Given the description of an element on the screen output the (x, y) to click on. 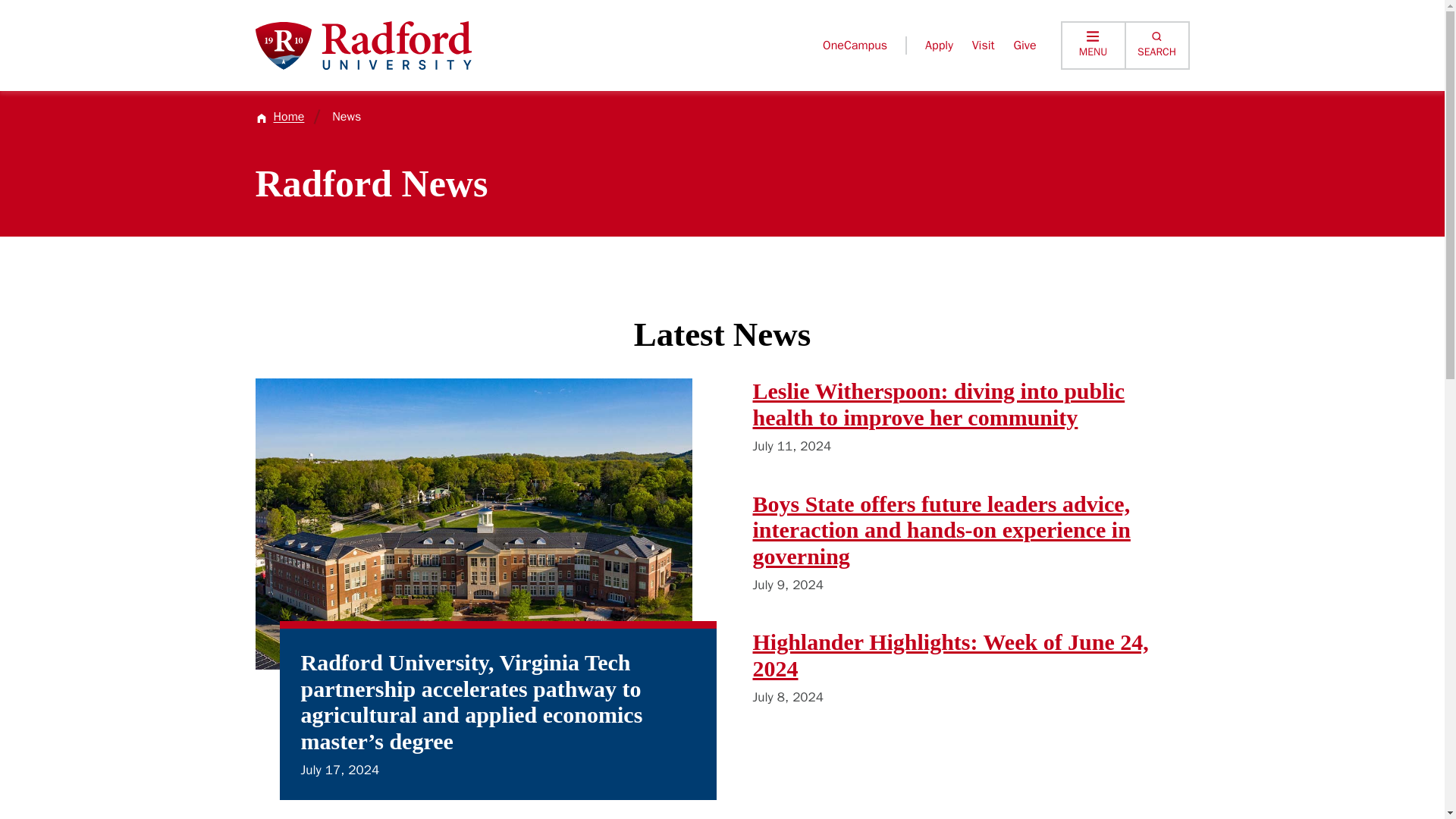
Give (1024, 45)
Visit (983, 45)
Home (279, 116)
Apply (938, 45)
News (346, 116)
MENU (1091, 45)
OneCampus (854, 45)
SEARCH (1157, 45)
Highlander Highlights: Week of June 24, 2024 (950, 654)
